Given the description of an element on the screen output the (x, y) to click on. 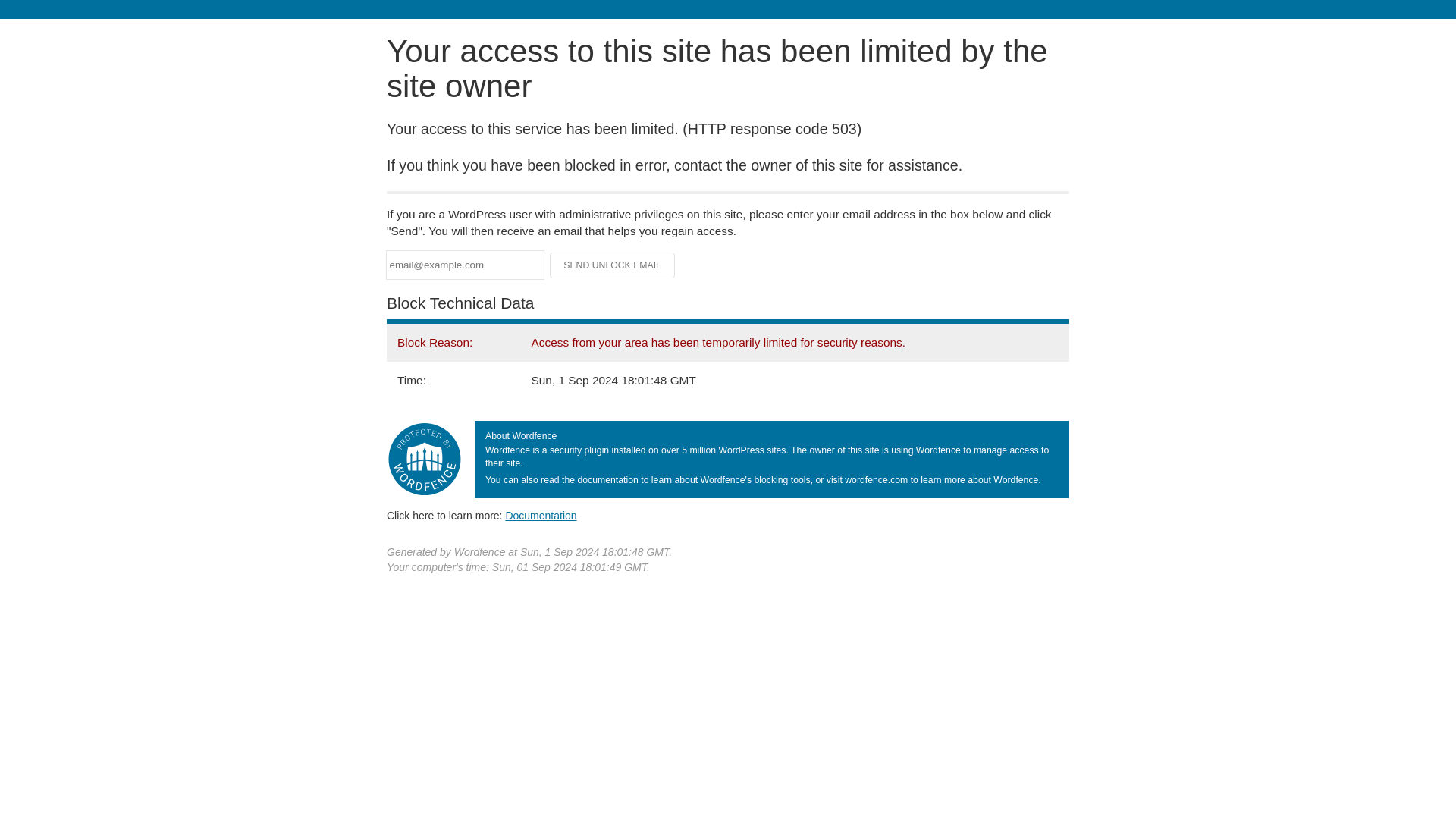
Send Unlock Email (612, 265)
Send Unlock Email (612, 265)
Documentation (540, 515)
